Given the description of an element on the screen output the (x, y) to click on. 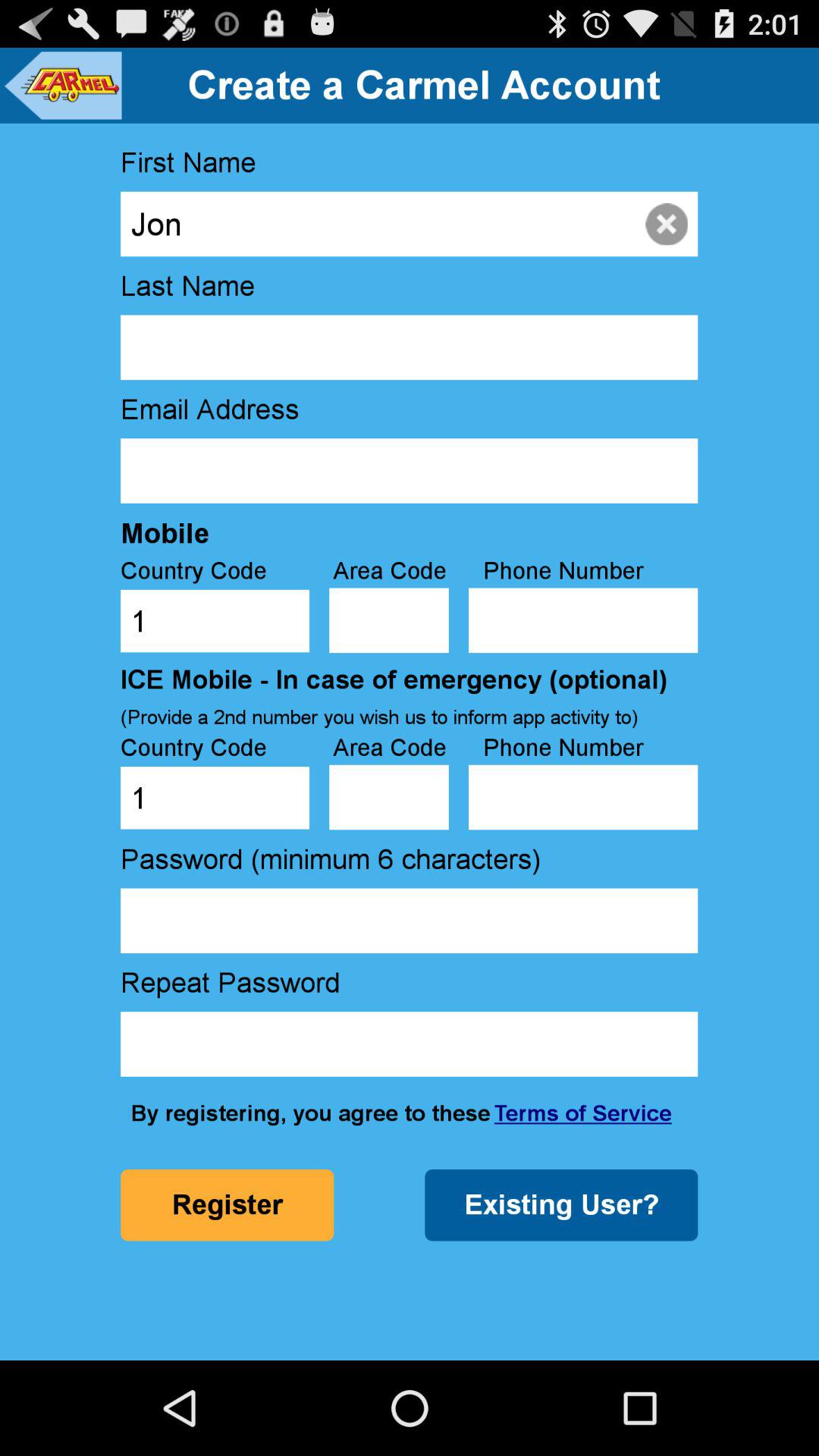
launch the icon next to register icon (560, 1205)
